Given the description of an element on the screen output the (x, y) to click on. 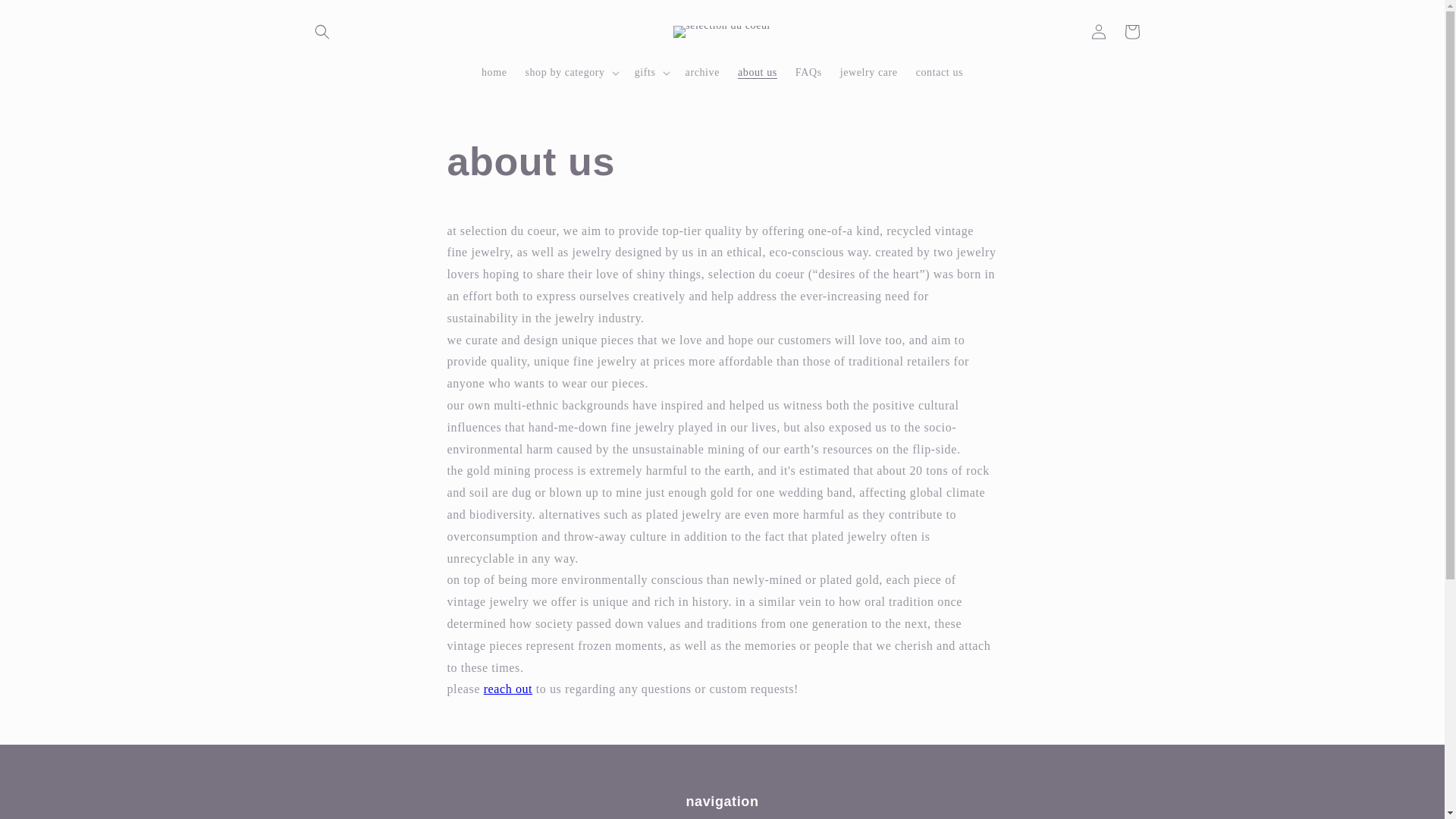
home (493, 71)
contact us (507, 688)
Skip to content (46, 18)
